Given the description of an element on the screen output the (x, y) to click on. 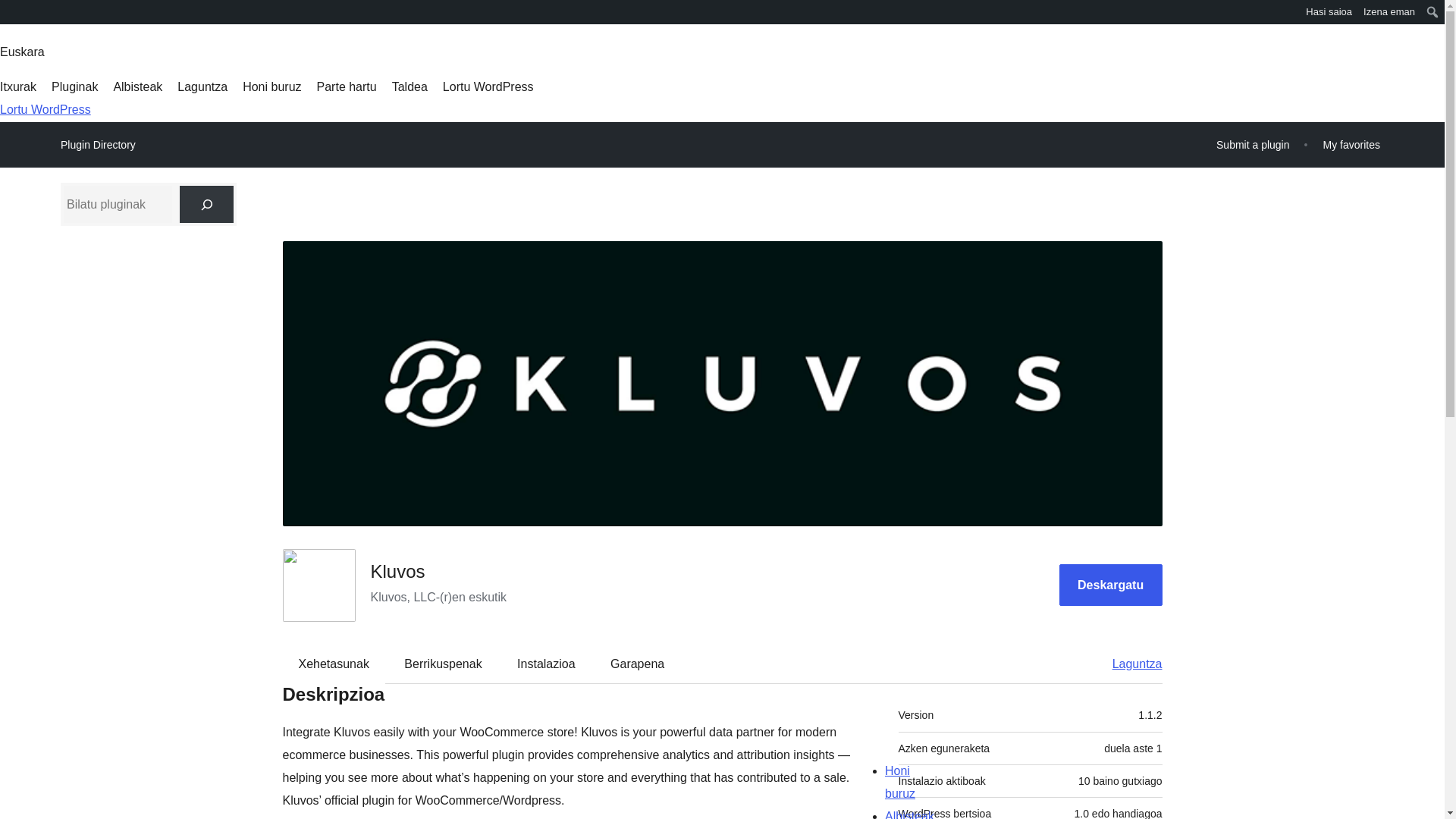
Instalazioa (546, 664)
Plugin Directory (97, 144)
Xehetasunak (333, 664)
Parte hartu (347, 87)
My favorites (1351, 144)
Garapena (637, 664)
Lortu WordPress (488, 87)
Itxurak (18, 87)
Albisteak (137, 87)
Taldea (409, 87)
